Given the description of an element on the screen output the (x, y) to click on. 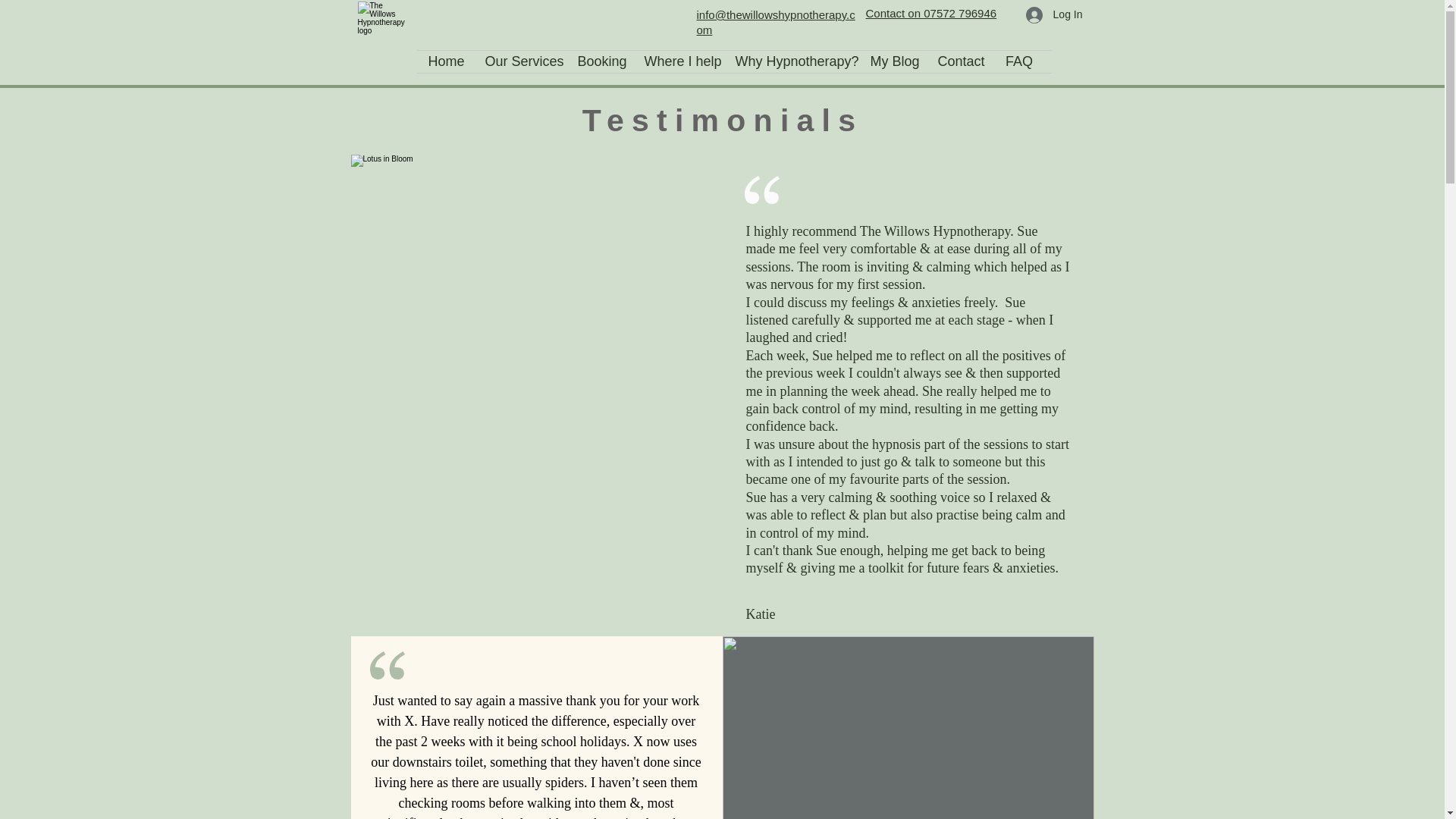
Our Services (519, 61)
Log In (1053, 14)
FAQ (1017, 61)
Contact on 07572 796946 (931, 12)
My Blog (892, 61)
Contact (960, 61)
Why Hypnotherapy? (791, 61)
Home (445, 61)
Where I help (677, 61)
Booking (598, 61)
